Given the description of an element on the screen output the (x, y) to click on. 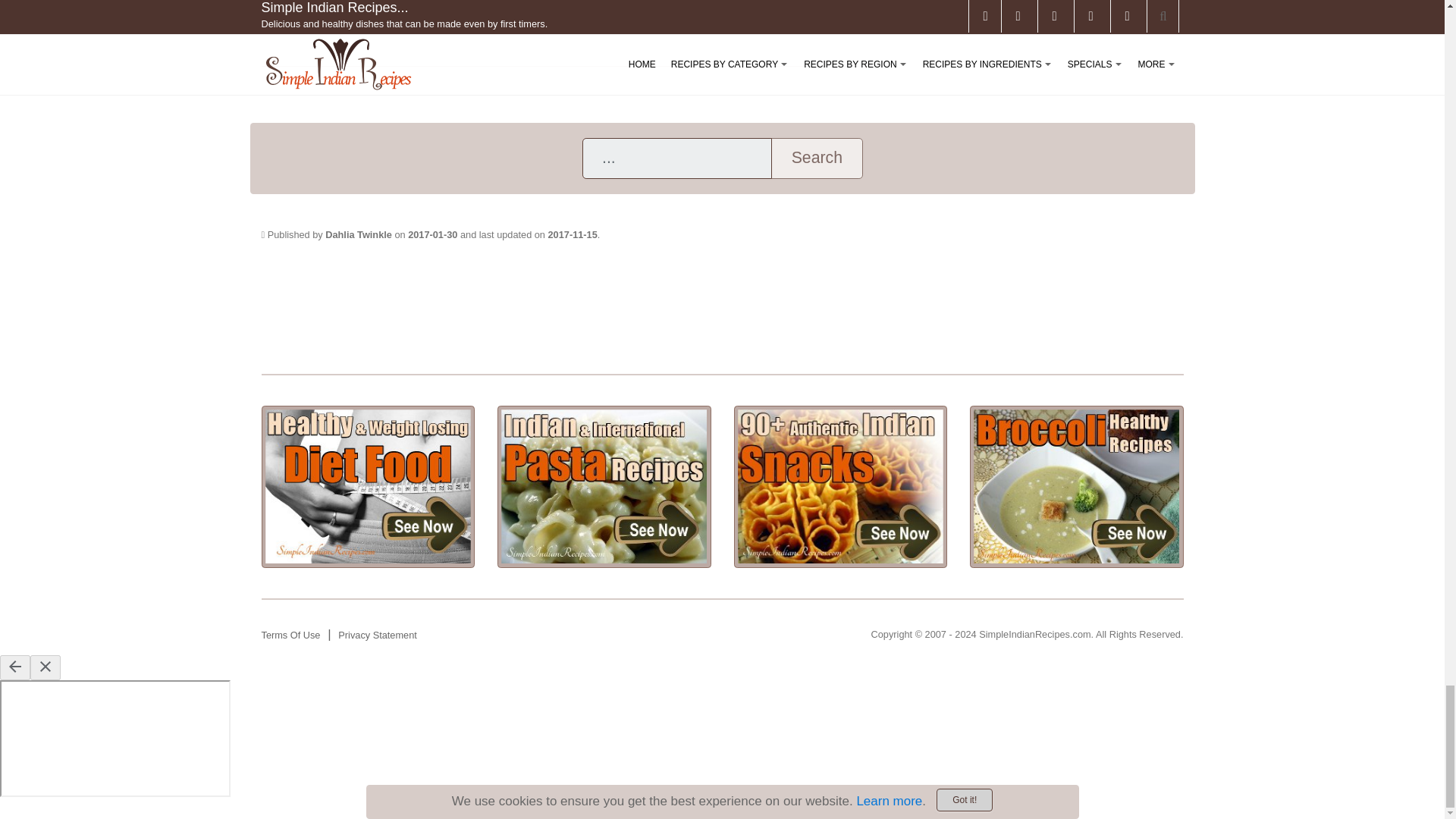
Search (816, 158)
